Given the description of an element on the screen output the (x, y) to click on. 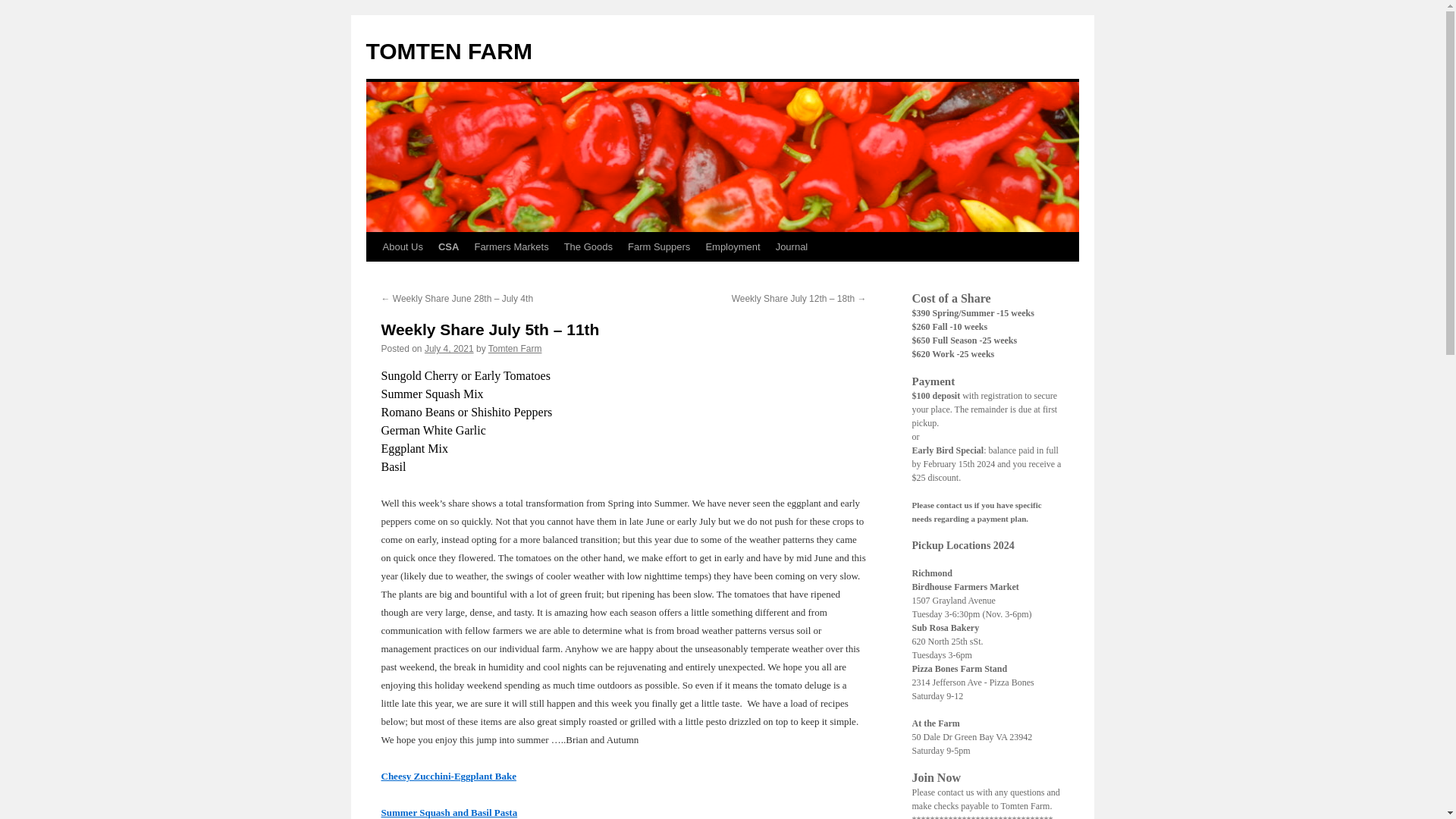
Farm Suppers (658, 246)
10:20 pm (449, 348)
About Us (401, 246)
Tomten Farm (514, 348)
Farmers Markets (510, 246)
The Goods (588, 246)
Summer Squash and Basil Pasta (448, 812)
TOMTEN FARM (448, 50)
July 4, 2021 (449, 348)
Cheesy Zucchini-Eggplant Bake (447, 776)
TOMTEN FARM (448, 50)
View all posts by Tomten Farm (514, 348)
Journal (791, 246)
CSA (447, 246)
Employment (732, 246)
